Given the description of an element on the screen output the (x, y) to click on. 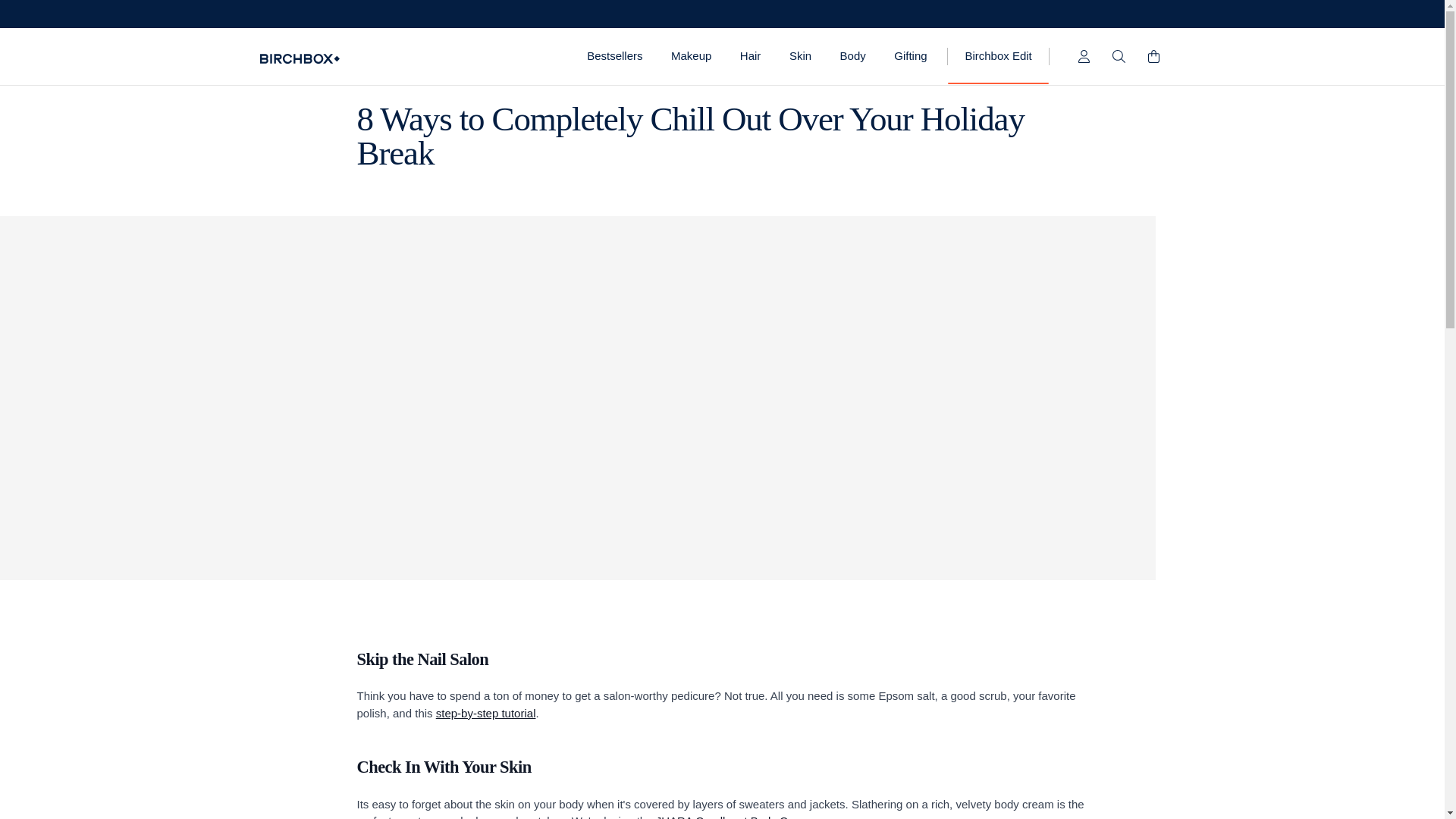
Bestsellers (614, 56)
JUARA Candlenut Body Creme (734, 816)
Body (852, 56)
Skin (799, 56)
Makeup (690, 56)
step-by-step tutorial (485, 712)
Gifting (911, 56)
Drink (369, 75)
Birchbox Edit (997, 55)
